Given the description of an element on the screen output the (x, y) to click on. 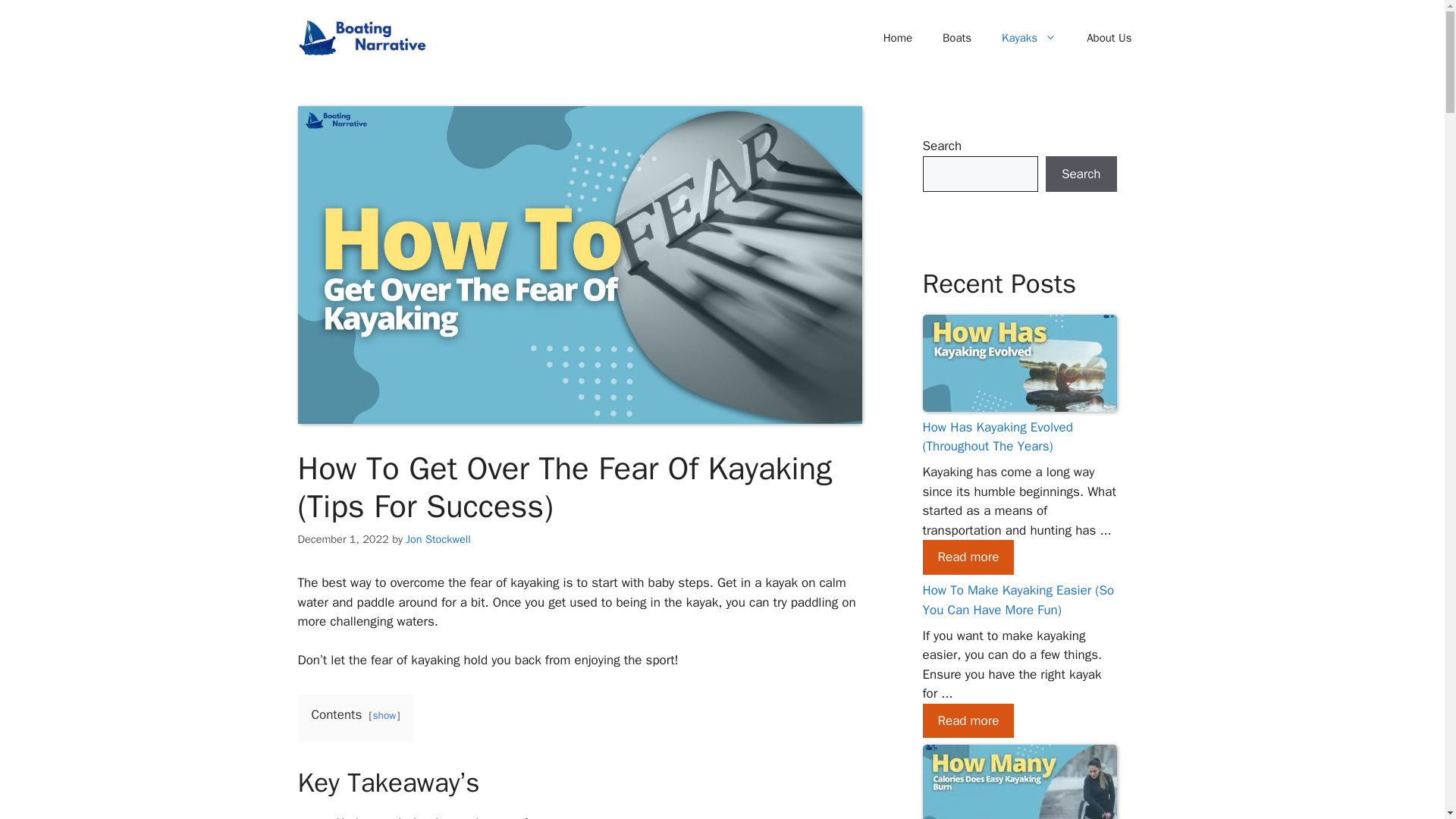
Read more (967, 556)
Kayaks (1029, 37)
Boats (957, 37)
Home (897, 37)
About Us (1109, 37)
Read more (967, 720)
Search (1080, 174)
Jon Stockwell (438, 539)
show (384, 715)
View all posts by Jon Stockwell (438, 539)
